Given the description of an element on the screen output the (x, y) to click on. 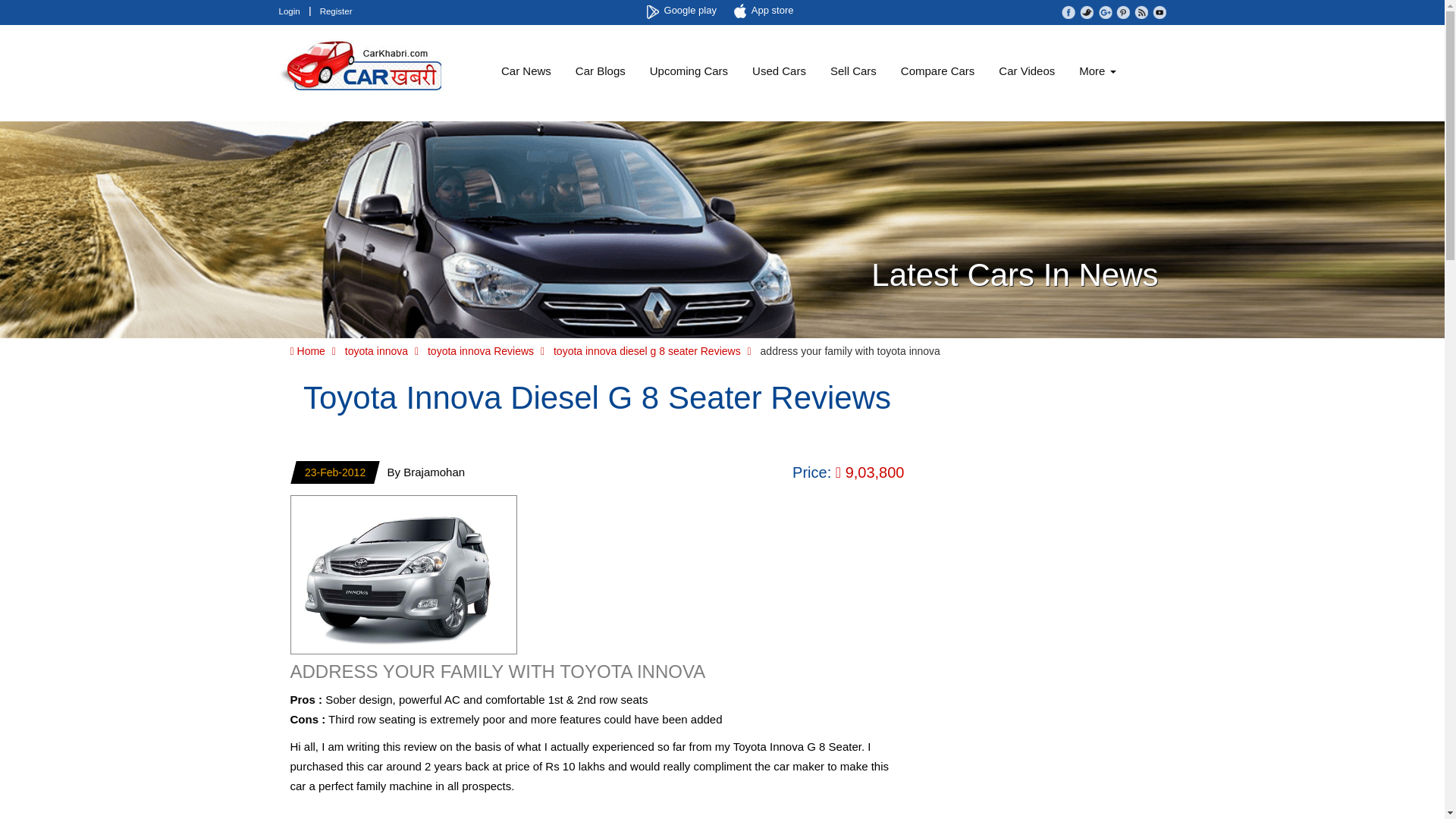
Google play (683, 10)
Car News (526, 70)
App store (765, 10)
Car Blogs (600, 70)
toyota innova (376, 350)
More (1096, 70)
Car Videos (1027, 70)
Used Cars (778, 70)
Home (306, 350)
toyota innova Reviews (481, 350)
